Given the description of an element on the screen output the (x, y) to click on. 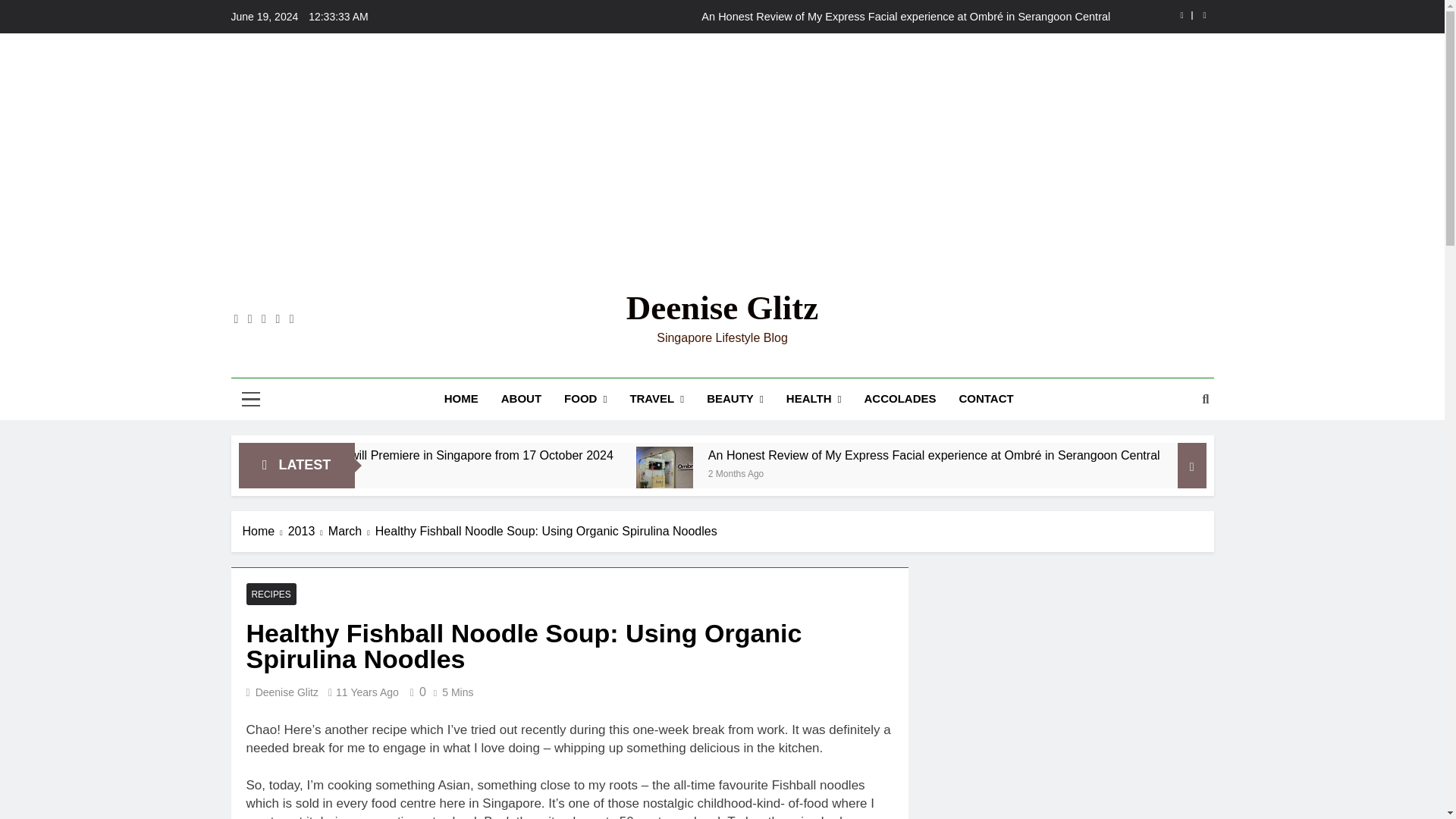
HOME (460, 398)
FOOD (585, 399)
ABOUT (521, 398)
Deenise Glitz (722, 307)
